Given the description of an element on the screen output the (x, y) to click on. 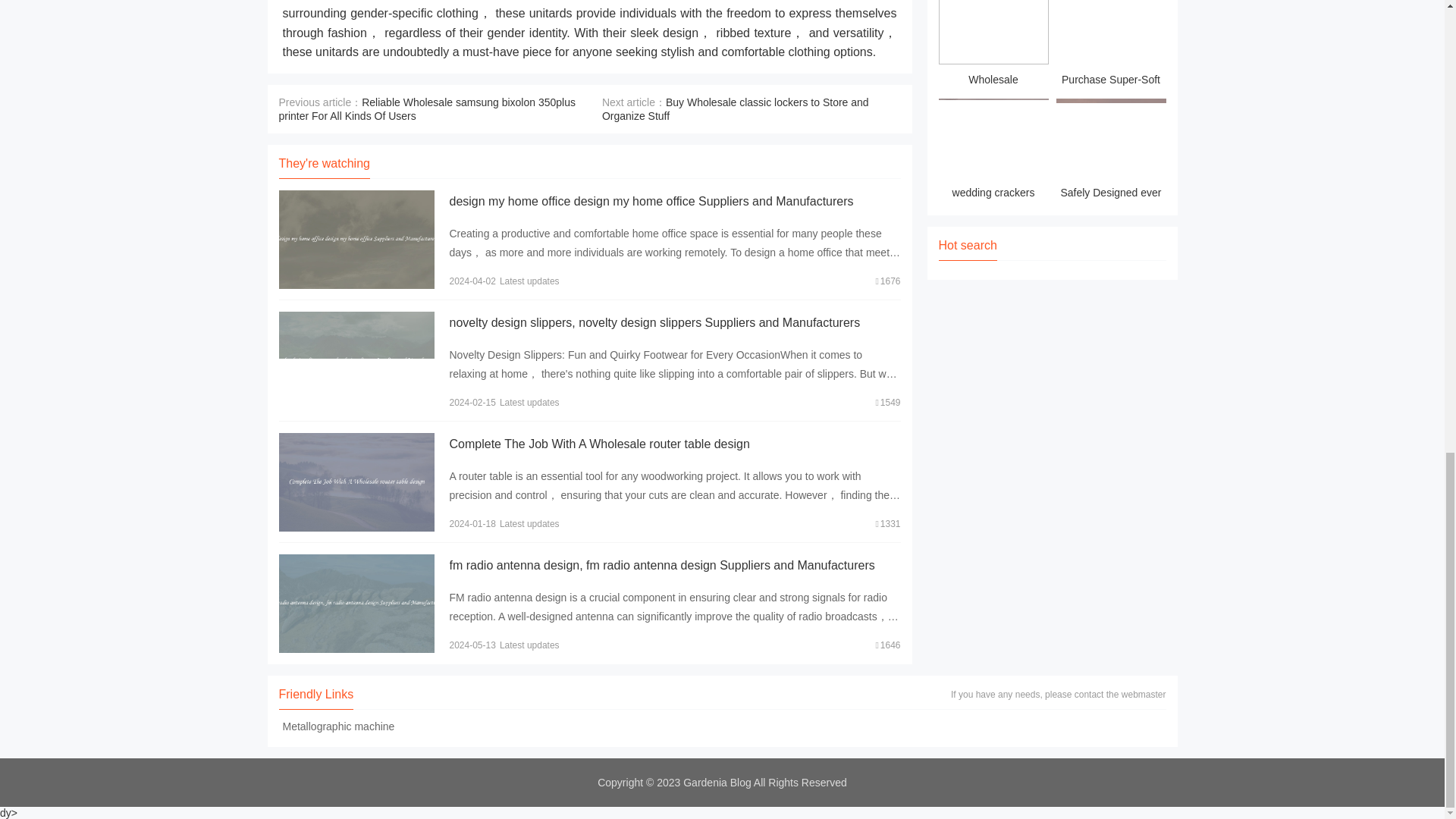
Metallographic machine (338, 726)
Buy Wholesale classic lockers to Store and Organize Stuff (735, 109)
Complete The Job With A Wholesale router table design (598, 443)
